Given the description of an element on the screen output the (x, y) to click on. 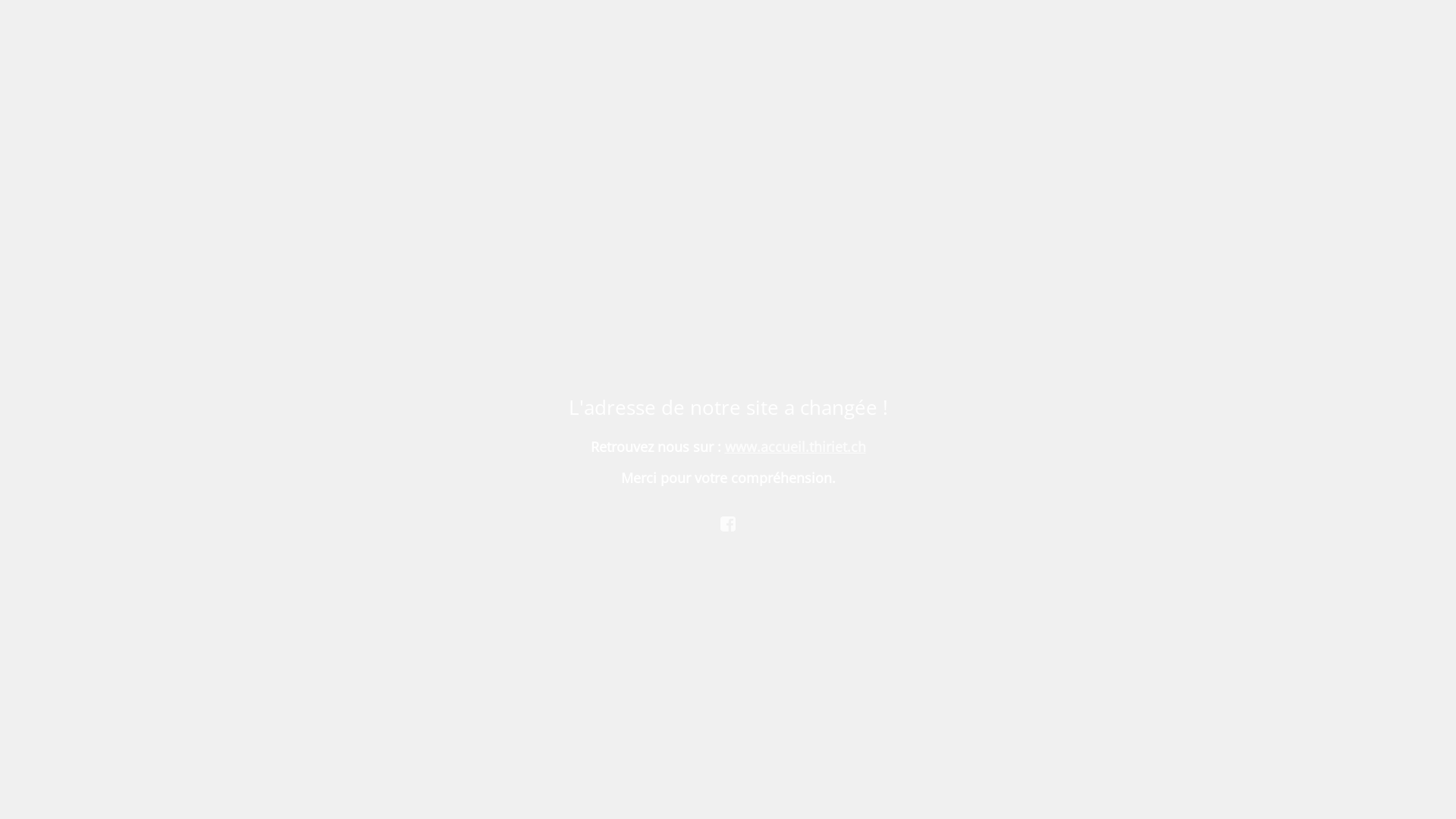
www.accueil.thiriet.ch Element type: text (795, 446)
Facebook Element type: hover (728, 522)
